Given the description of an element on the screen output the (x, y) to click on. 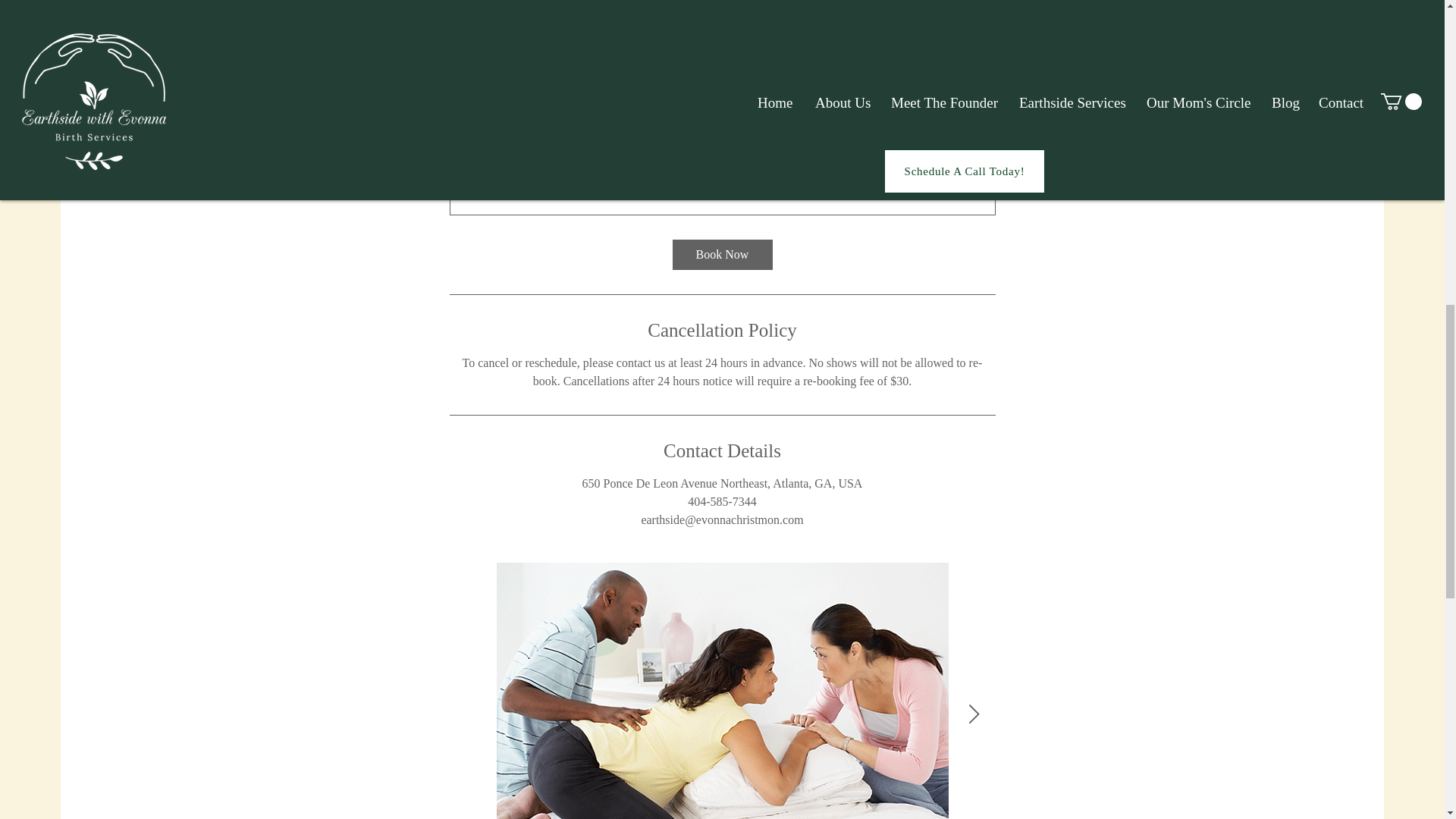
Book Now (721, 254)
